Given the description of an element on the screen output the (x, y) to click on. 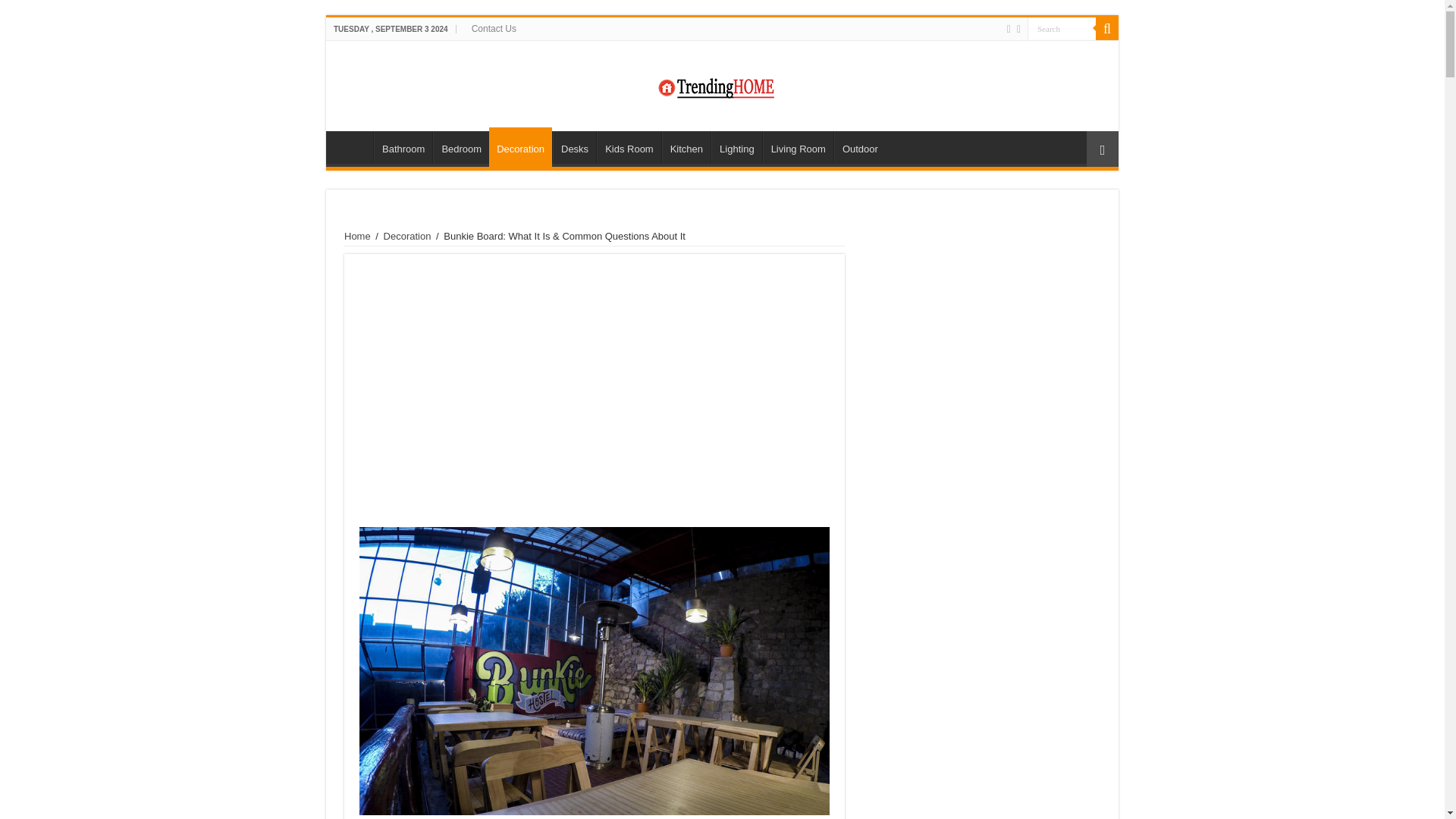
Search (1061, 28)
Search (1107, 28)
Home (352, 146)
Decoration (520, 147)
Decoration (407, 235)
Bathroom (403, 146)
Desks (574, 146)
Outdoor (859, 146)
Home (357, 235)
Lighting (736, 146)
